Given the description of an element on the screen output the (x, y) to click on. 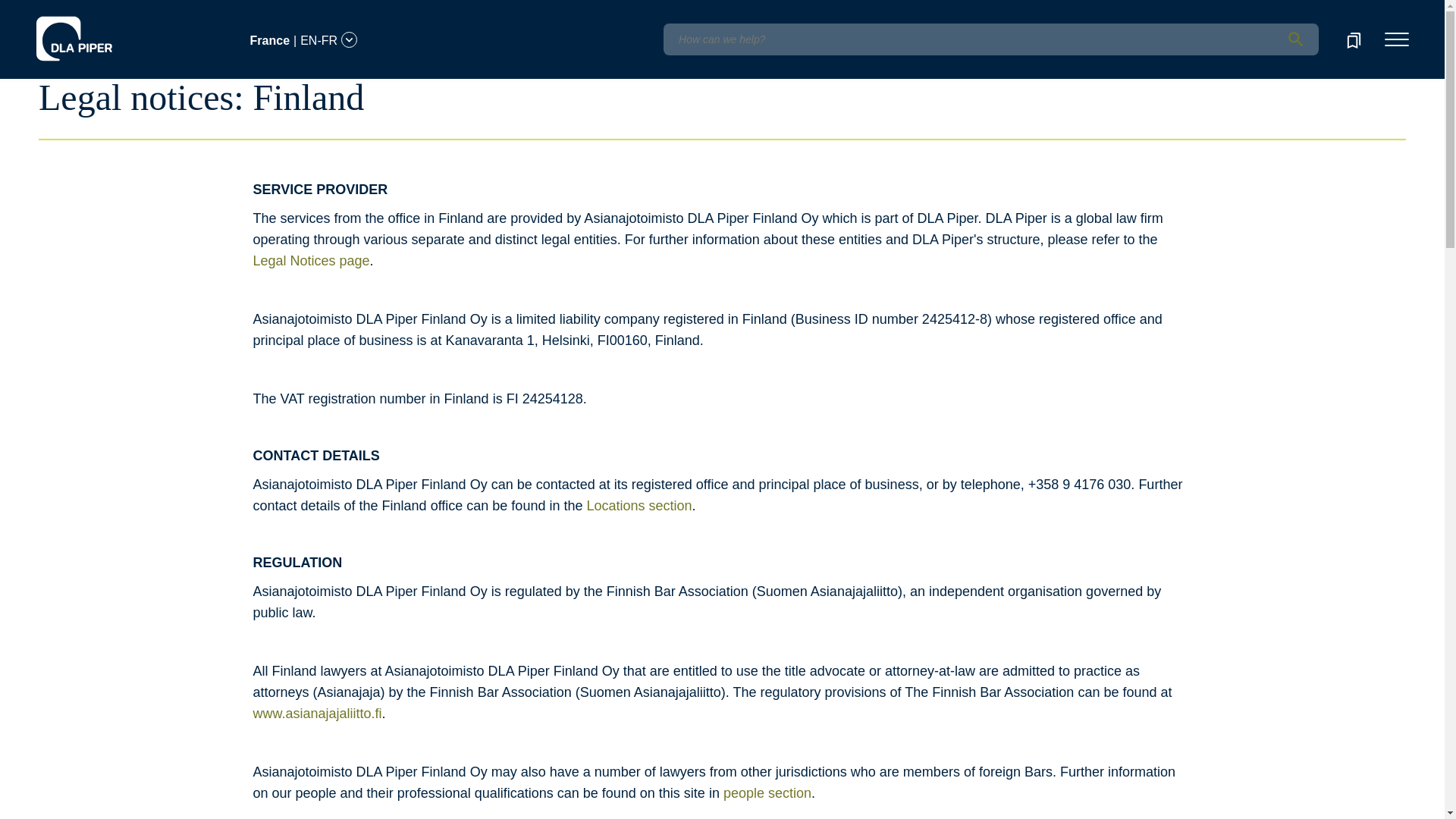
Deutsch (157, 11)
English (115, 11)
English (116, 31)
Insert a query. Press enter to send (990, 39)
